Given the description of an element on the screen output the (x, y) to click on. 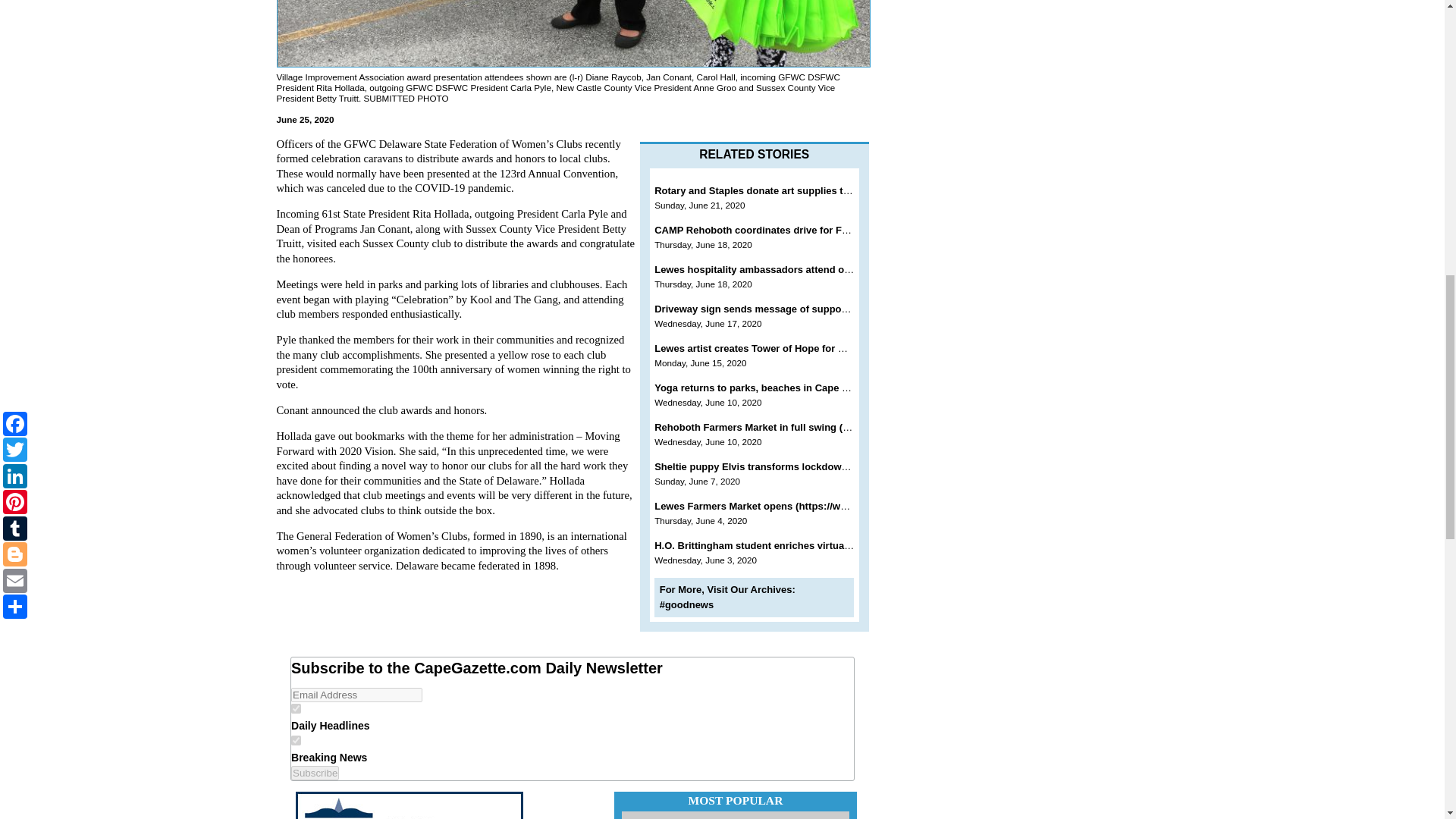
2 (296, 740)
Subscribe (315, 772)
1 (296, 708)
